Given the description of an element on the screen output the (x, y) to click on. 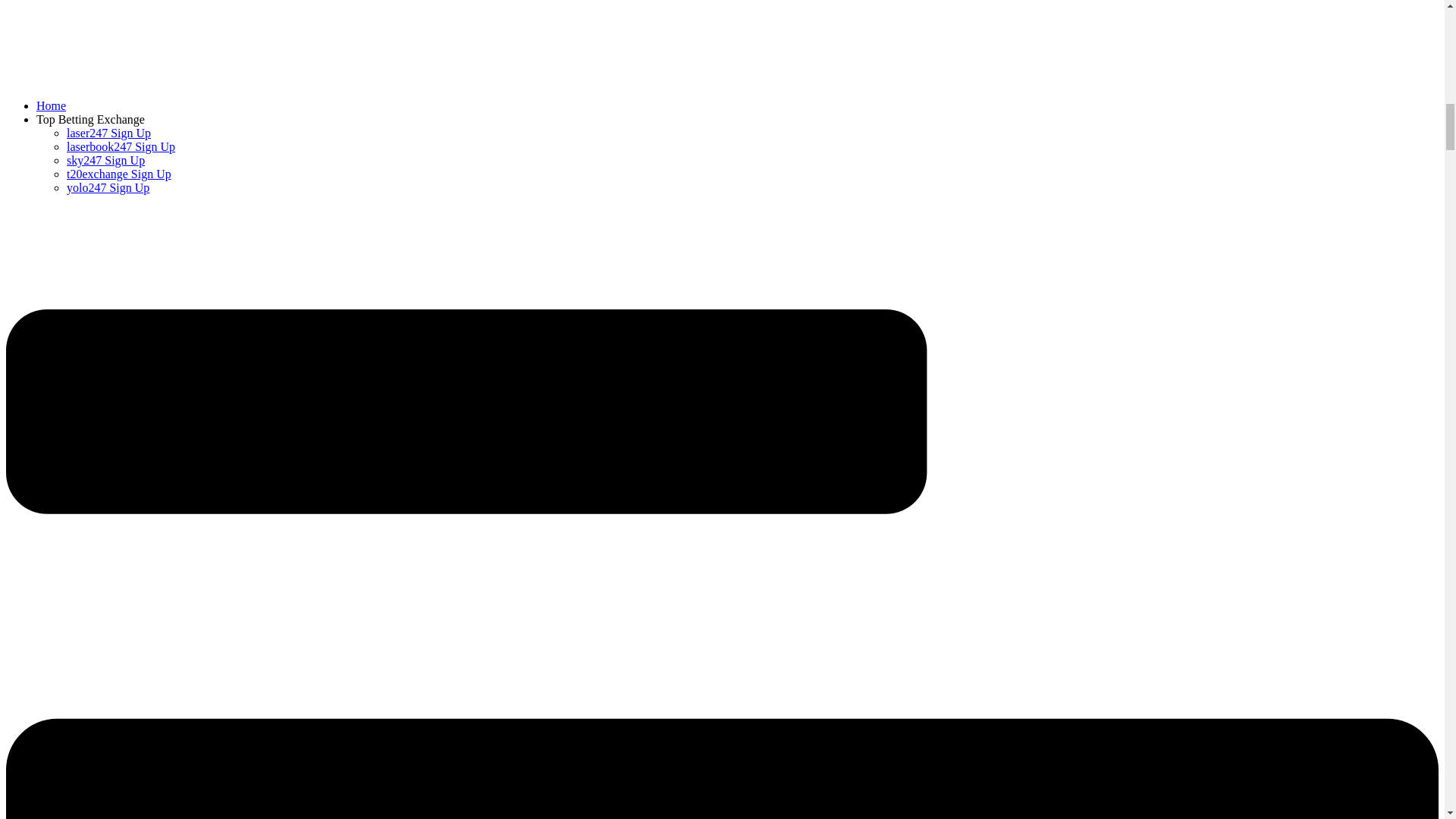
t20exchange Sign Up (118, 173)
laserbook247 Sign Up (120, 146)
laser247 Sign Up (108, 132)
Home (50, 105)
yolo247 Sign Up (107, 187)
Top Betting Exchange (90, 119)
sky247 Sign Up (105, 160)
